Given the description of an element on the screen output the (x, y) to click on. 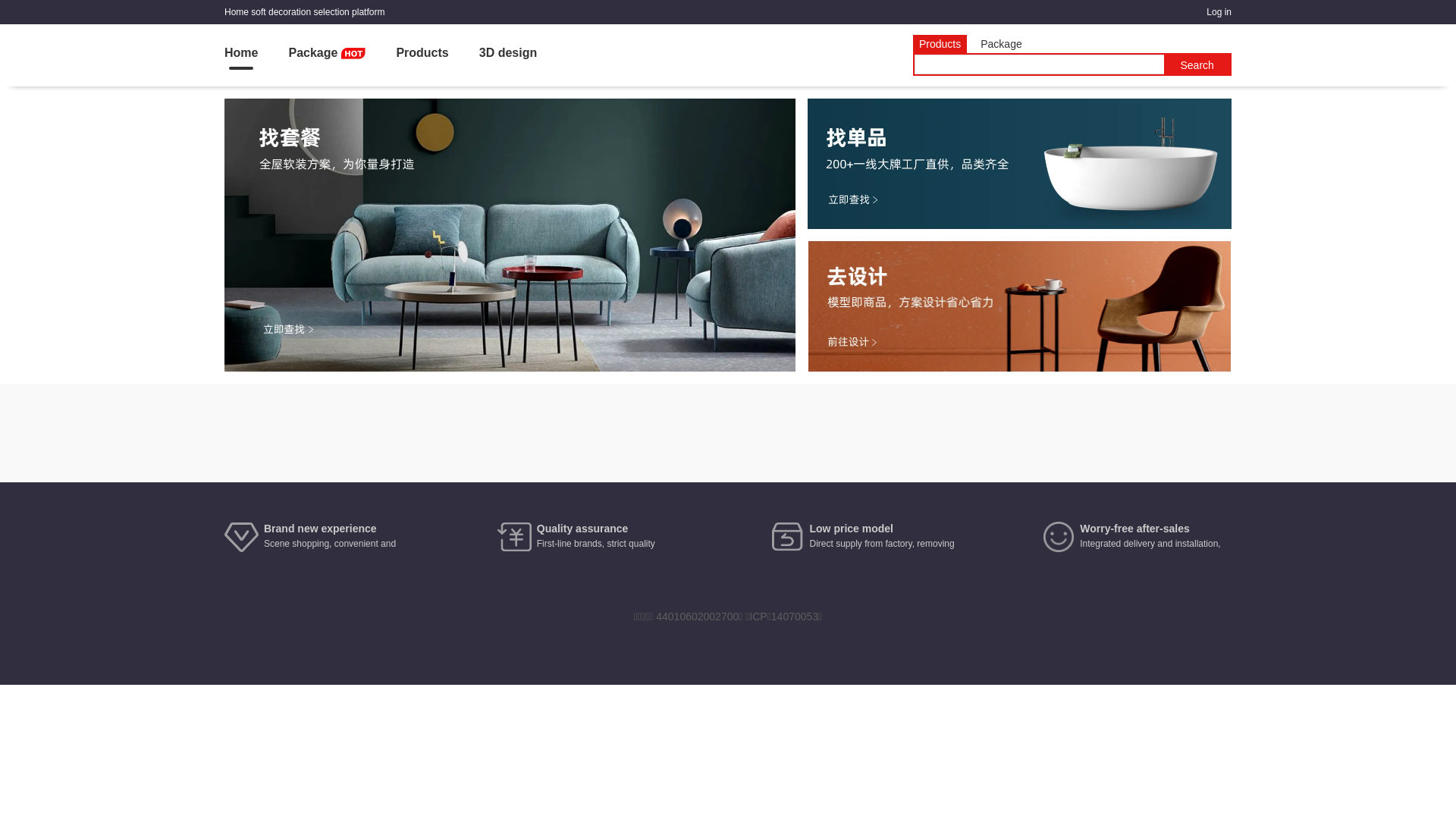
Log in Element type: text (1218, 11)
Home Element type: text (240, 55)
Home soft decoration selection platform Element type: text (304, 12)
Products Element type: text (421, 55)
Package Element type: text (326, 55)
